Given the description of an element on the screen output the (x, y) to click on. 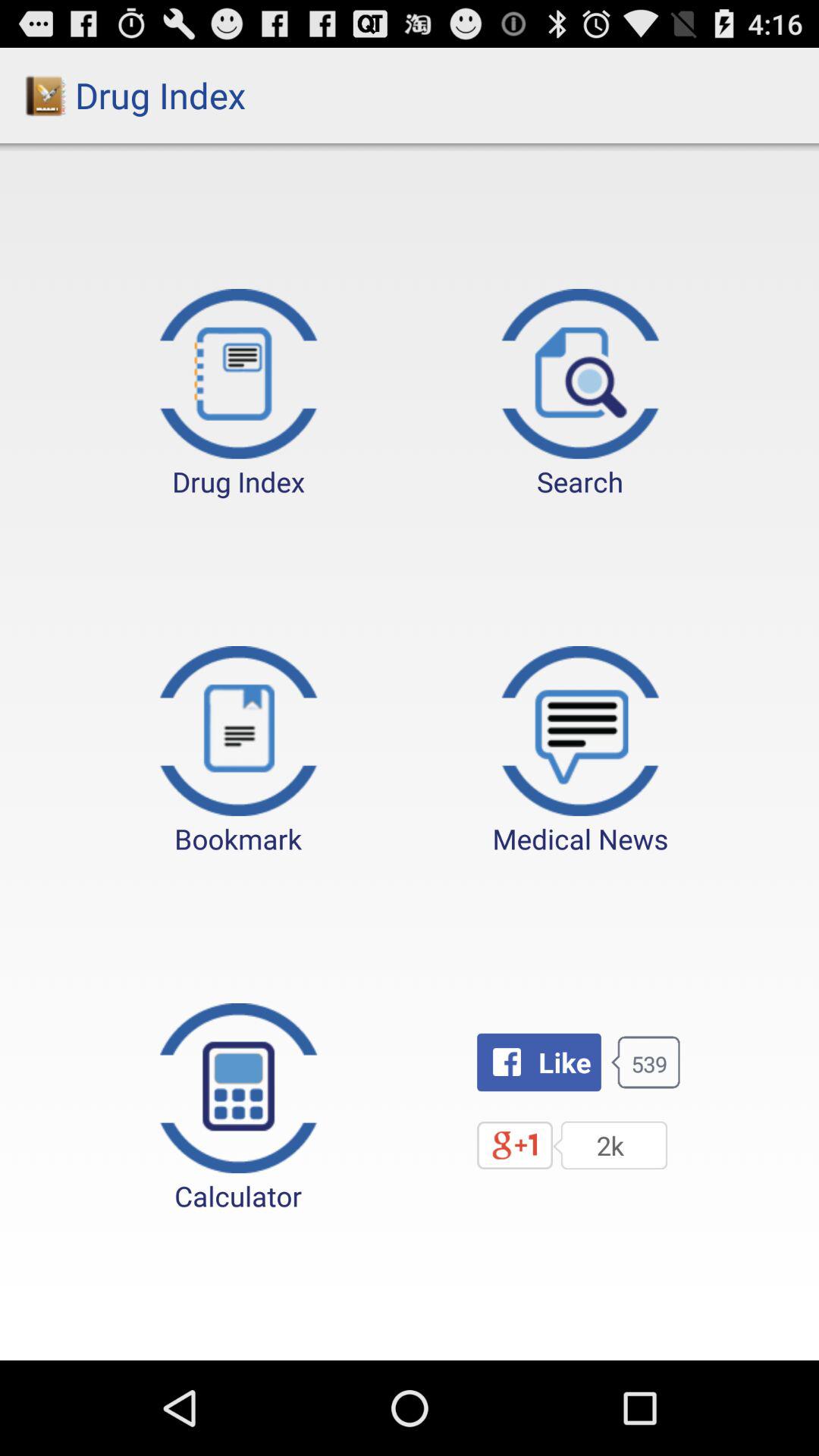
press icon to the right of calculator item (539, 1062)
